Given the description of an element on the screen output the (x, y) to click on. 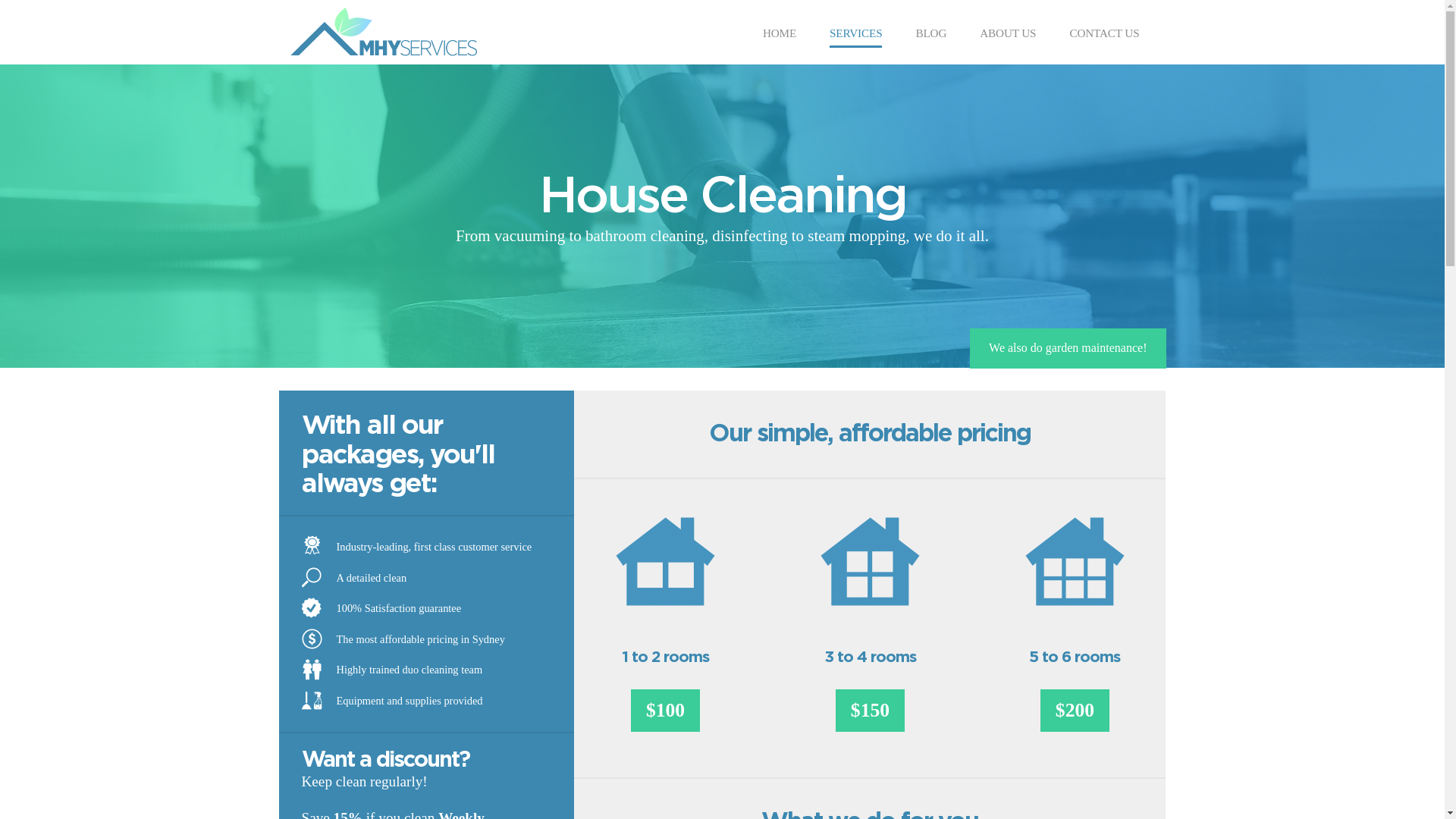
HOME Element type: text (779, 34)
We also do garden maintenance! Element type: text (1067, 348)
ABOUT US Element type: text (1007, 34)
BLOG Element type: text (930, 34)
SERVICES Element type: text (855, 34)
CONTACT US Element type: text (1104, 34)
